Given the description of an element on the screen output the (x, y) to click on. 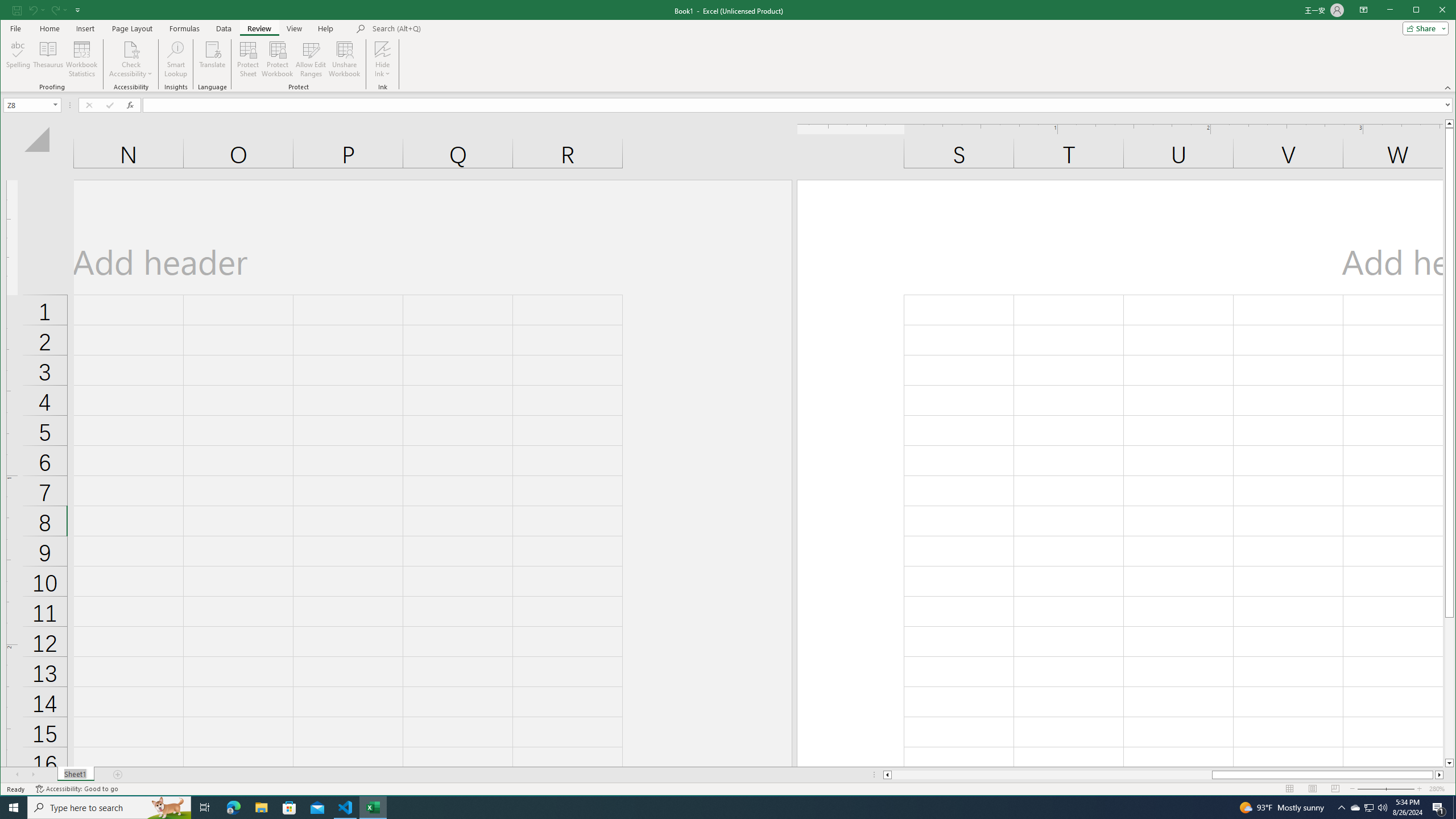
Insert (85, 28)
Microsoft search (451, 28)
Thesaurus... (48, 59)
Zoom Out (1378, 788)
Start (13, 807)
Collapse the Ribbon (1448, 87)
Translate (212, 59)
Redo (58, 9)
Open (55, 105)
Maximize (1432, 11)
Ribbon Display Options (1364, 9)
Check Accessibility (130, 59)
Normal (1289, 788)
Class: MsoCommandBar (728, 45)
